Given the description of an element on the screen output the (x, y) to click on. 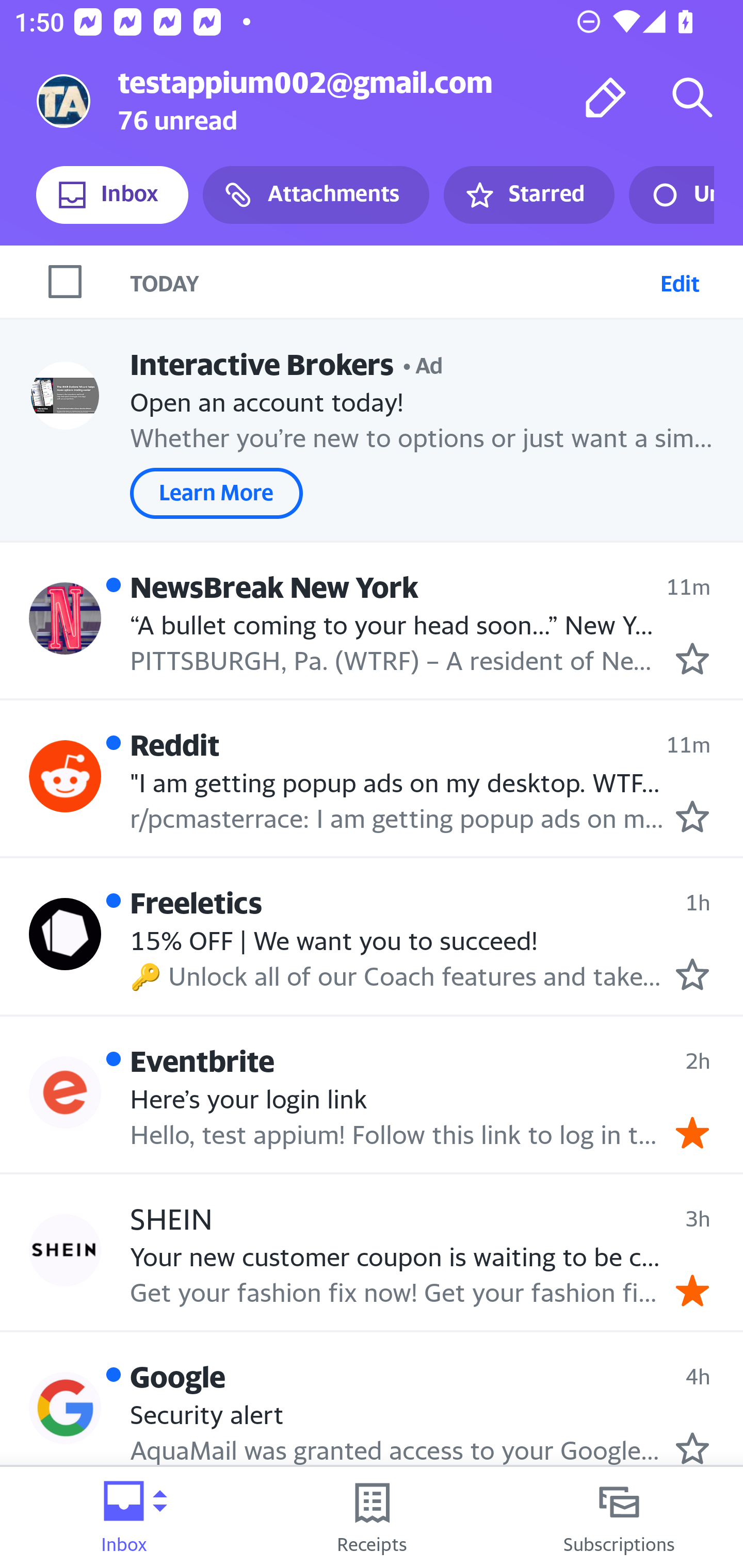
Compose (605, 97)
Search mail (692, 97)
Attachments (315, 195)
Starred (528, 195)
TODAY (391, 281)
Edit Select emails (679, 281)
Profile
NewsBreak New York (64, 617)
Mark as starred. (692, 659)
Profile
Reddit (64, 776)
Mark as starred. (692, 816)
Profile
Freeletics (64, 934)
Mark as starred. (692, 974)
Profile
Eventbrite (64, 1092)
Remove star. (692, 1132)
Profile
SHEIN (64, 1249)
Remove star. (692, 1291)
Profile
Google (64, 1408)
Mark as starred. (692, 1448)
Inbox Folder picker (123, 1517)
Receipts (371, 1517)
Subscriptions (619, 1517)
